Given the description of an element on the screen output the (x, y) to click on. 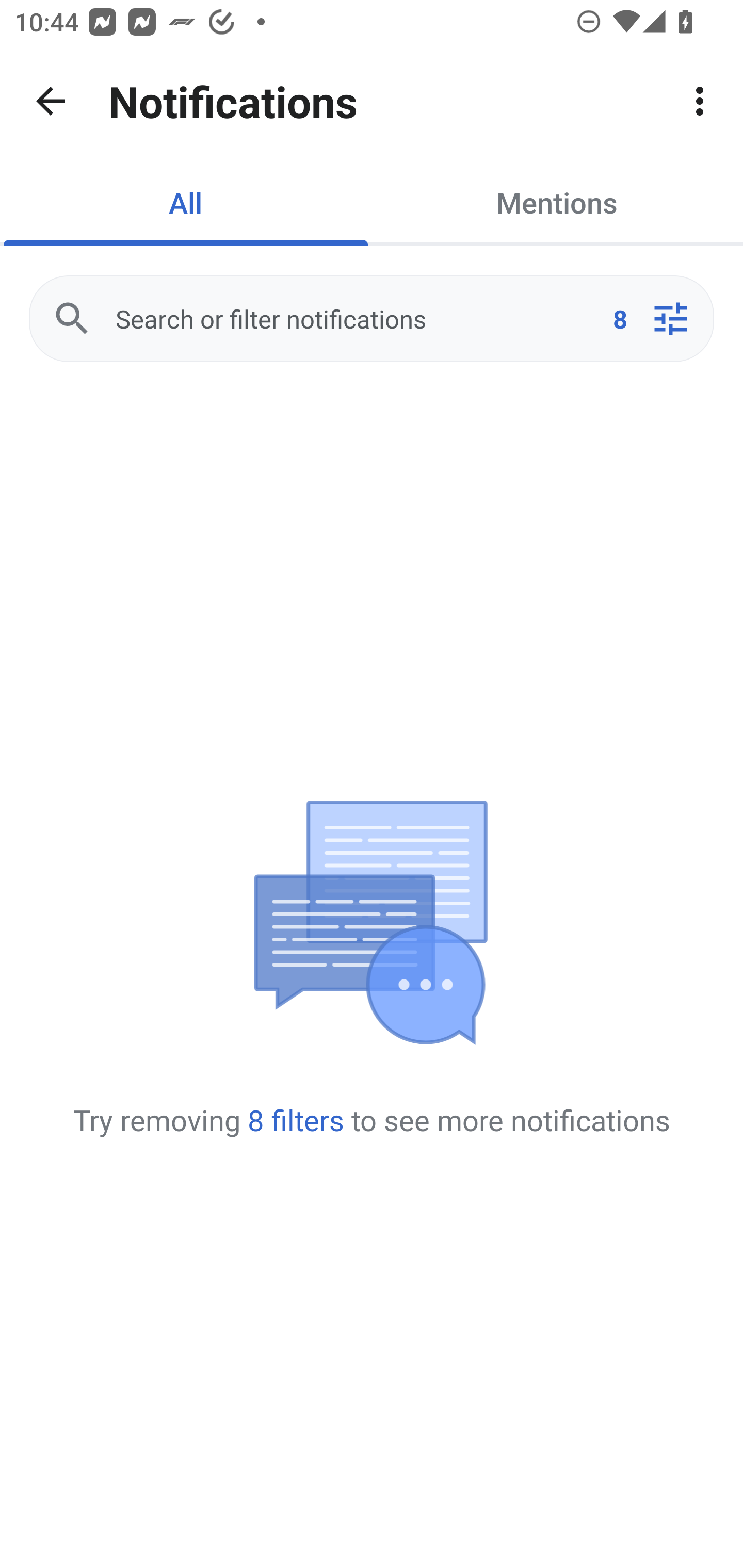
Navigate up (50, 101)
More (699, 101)
Mentions (557, 202)
Notification filter (670, 318)
